Given the description of an element on the screen output the (x, y) to click on. 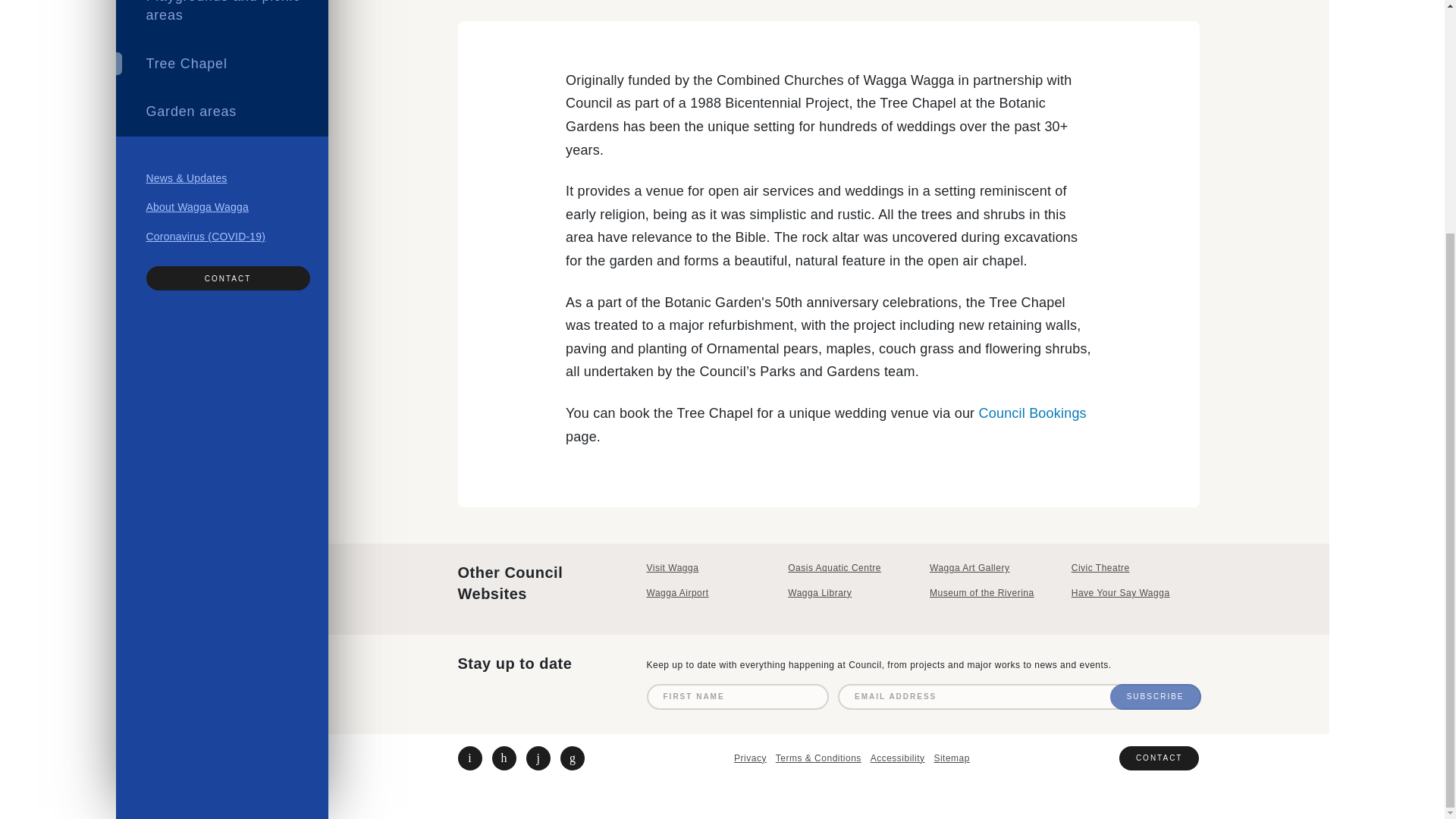
Museum of the Riverina (994, 593)
Council Twitter (469, 758)
Council Bookings (1032, 412)
Have Your Say Wagga (1135, 593)
About Wagga Wagga (196, 206)
Wagga Library (851, 593)
Council Instagram (537, 758)
Subscribe (1155, 696)
Wagga Airport (710, 593)
Wagga Art Gallery (994, 567)
Civic Theatre (1135, 567)
Visit Wagga (710, 567)
Garden areas (221, 111)
Playgrounds and picnic areas (221, 20)
Council Facebook (504, 758)
